Given the description of an element on the screen output the (x, y) to click on. 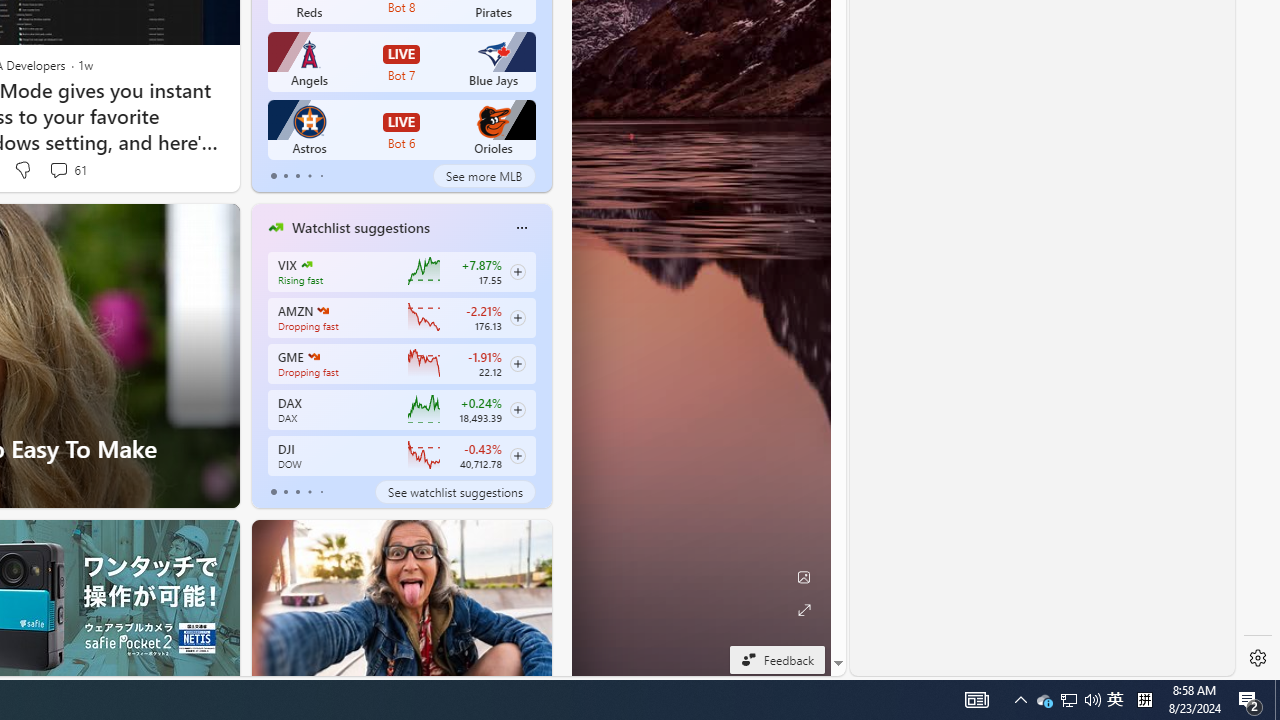
Edit Background (803, 577)
View comments 61 Comment (58, 169)
CBOE Market Volatility Index (306, 264)
See more MLB (484, 175)
See watchlist suggestions (454, 491)
Angels LIVE Bot 7 Blue Jays (401, 61)
View comments 61 Comment (66, 170)
tab-0 (273, 491)
Watchlist suggestions (360, 227)
tab-2 (297, 491)
AMAZON.COM, INC. (322, 310)
